Given the description of an element on the screen output the (x, y) to click on. 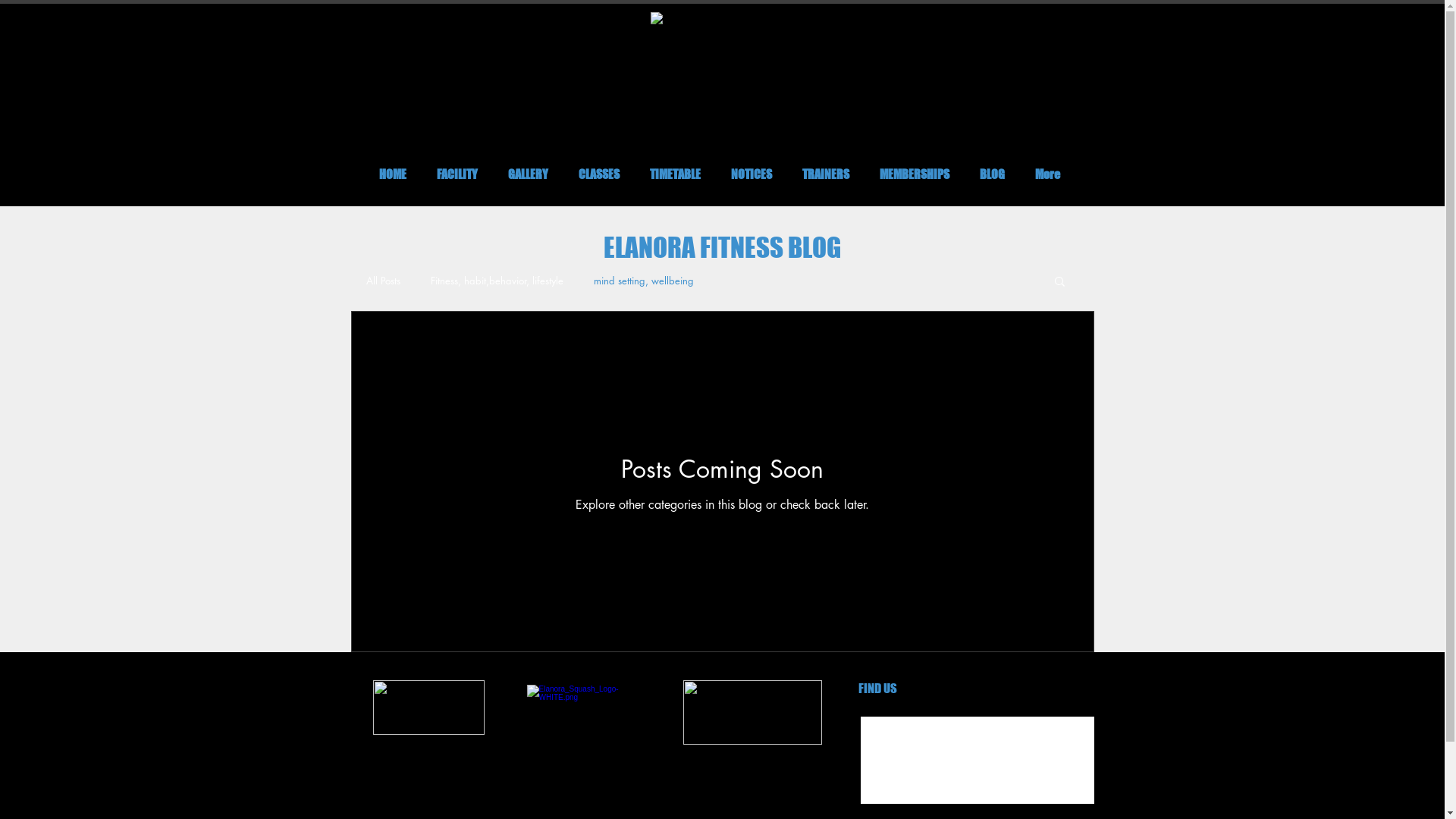
GALLERY Element type: text (527, 173)
TRAINERS Element type: text (825, 173)
MEMBERSHIPS Element type: text (914, 173)
NOTICES Element type: text (751, 173)
BLOG Element type: text (991, 173)
mind setting, wellbeing Element type: text (643, 280)
All Posts Element type: text (382, 280)
HOME Element type: text (392, 173)
Fitness, habit,behavior, lifestyle Element type: text (496, 280)
TIMETABLE Element type: text (674, 173)
FACILITY Element type: text (456, 173)
CLASSES Element type: text (597, 173)
Elanora-Sports-Shop.jpg Element type: hover (751, 712)
